Given the description of an element on the screen output the (x, y) to click on. 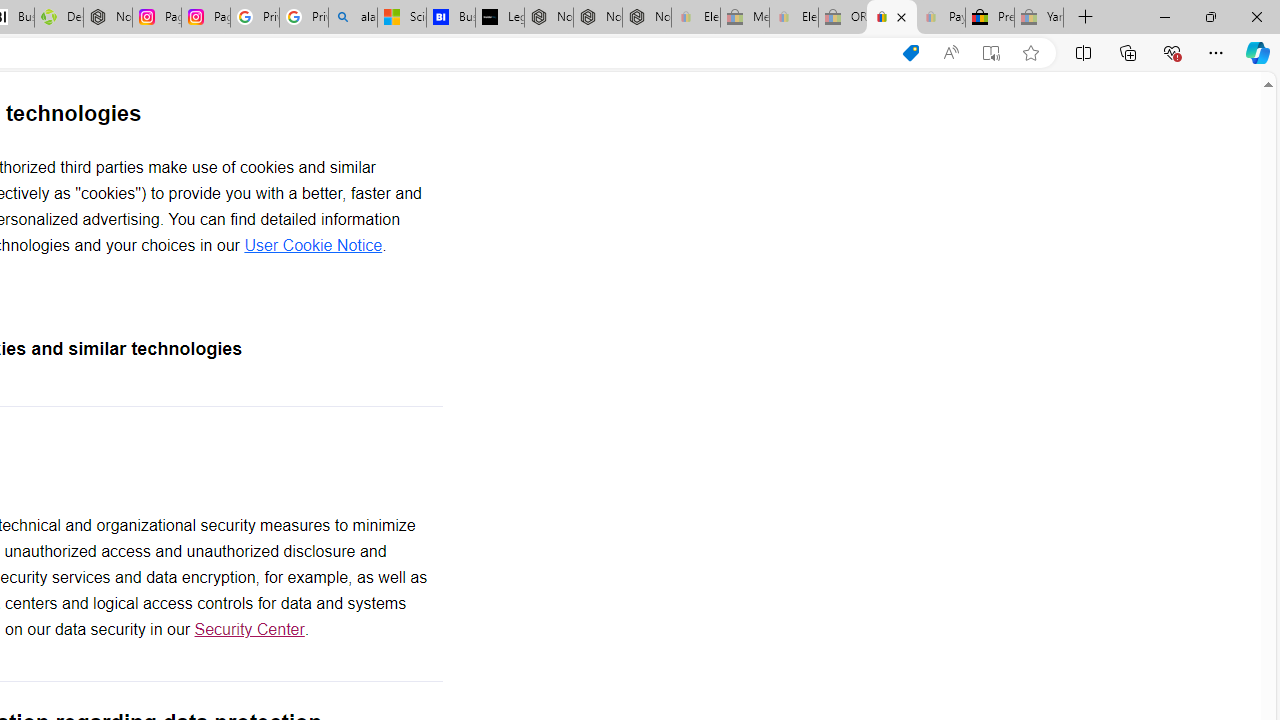
Payments Terms of Use | eBay.com - Sleeping (940, 17)
